Given the description of an element on the screen output the (x, y) to click on. 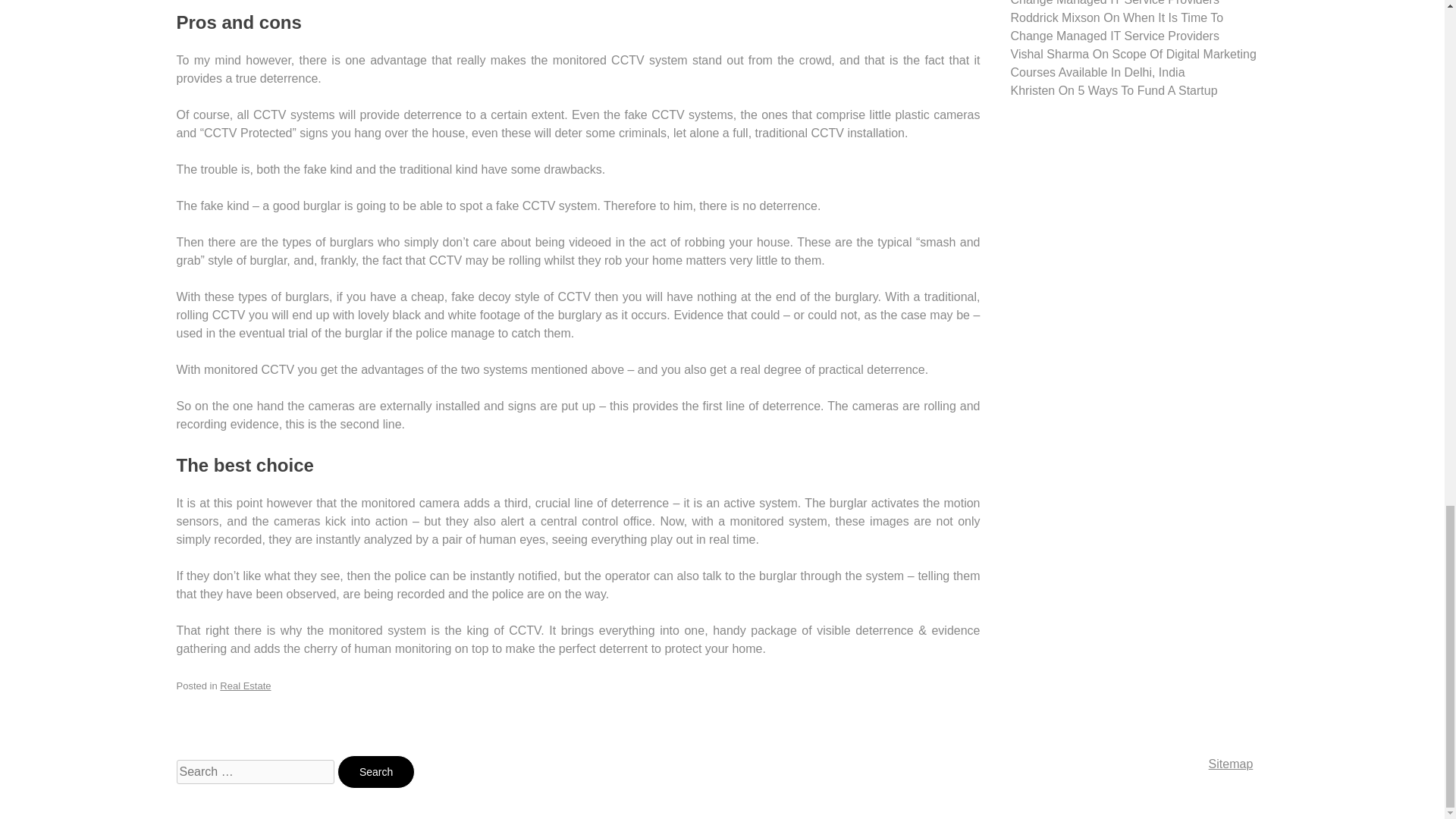
Search (375, 771)
Real Estate (244, 685)
Search (375, 771)
